Given the description of an element on the screen output the (x, y) to click on. 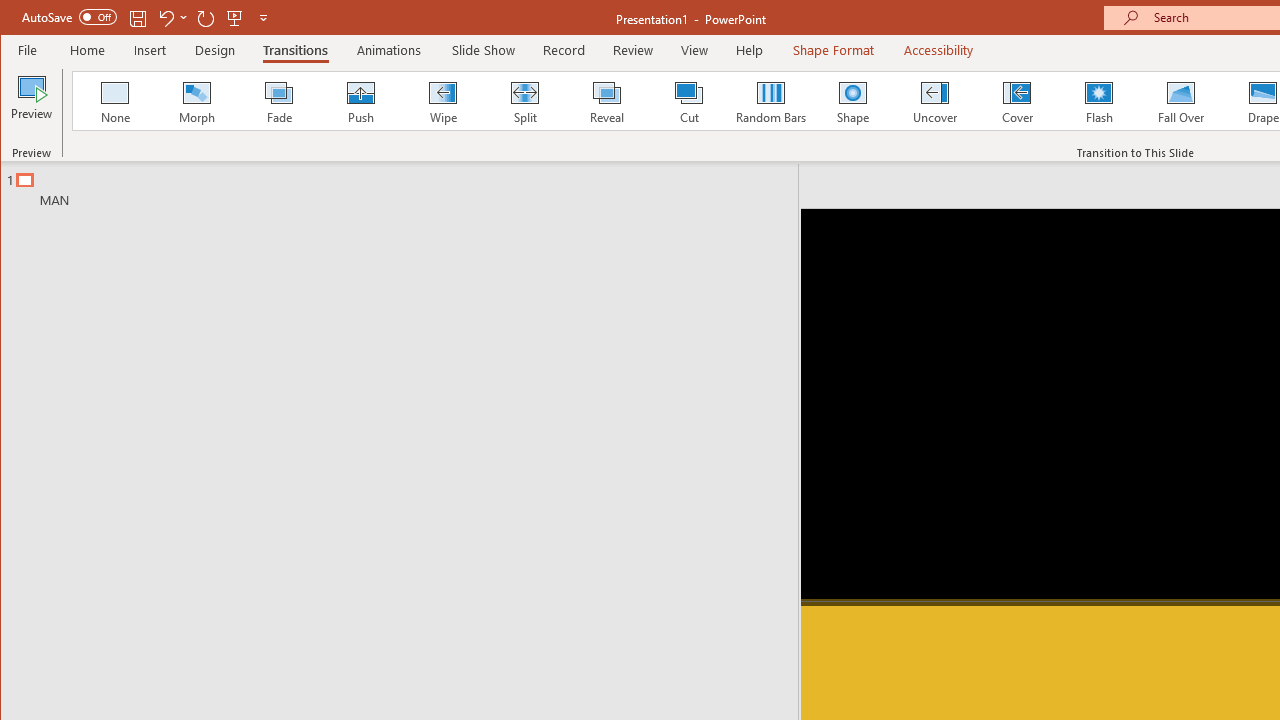
Morph (197, 100)
Reveal (606, 100)
Push (360, 100)
